Given the description of an element on the screen output the (x, y) to click on. 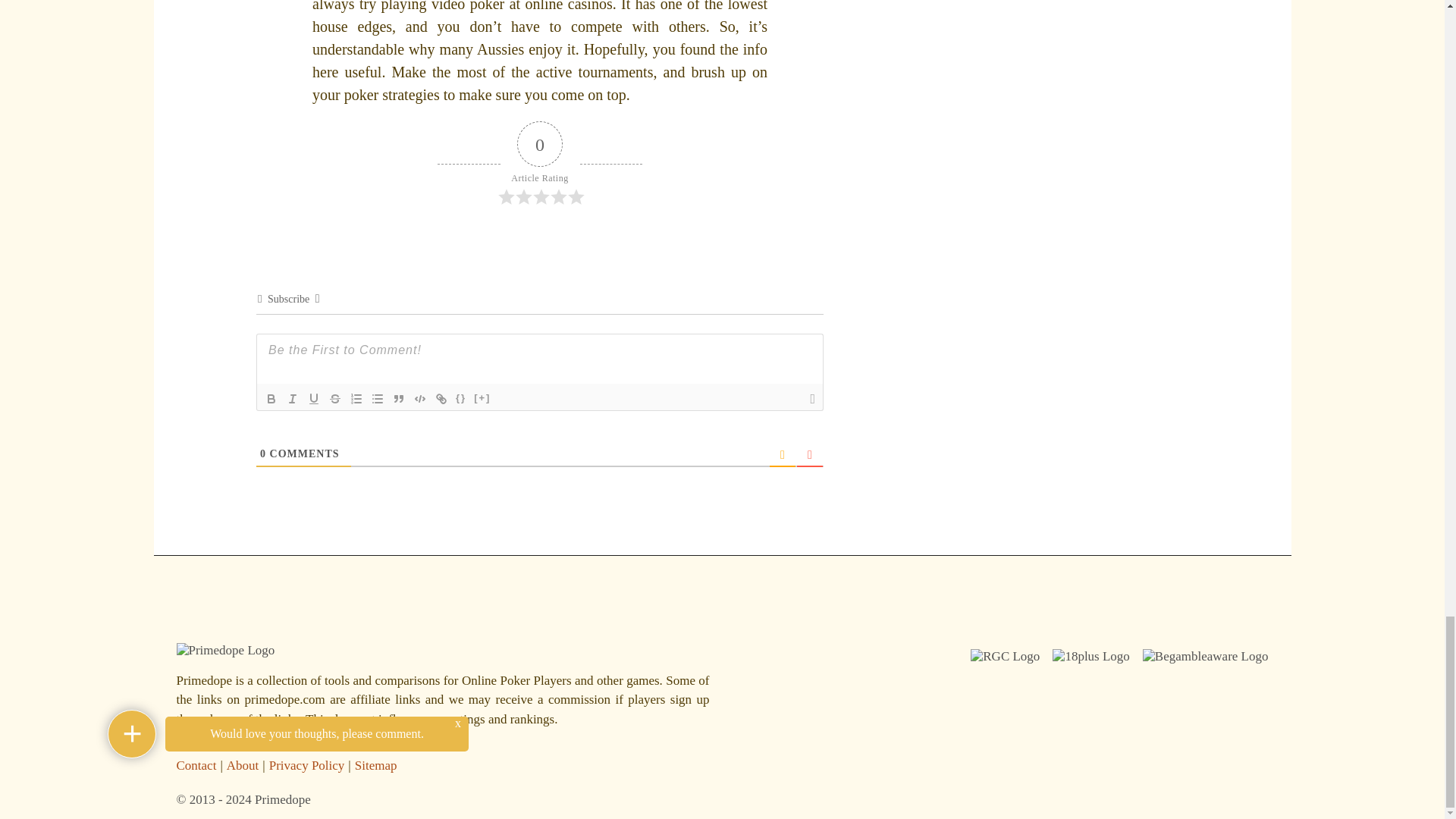
Link (440, 398)
Unordered List (377, 398)
Source Code (460, 398)
Spoiler (482, 398)
Italic (292, 398)
Strike (335, 398)
Blockquote (398, 398)
Code Block (419, 398)
Underline (313, 398)
Bold (271, 398)
Ordered List (356, 398)
